Given the description of an element on the screen output the (x, y) to click on. 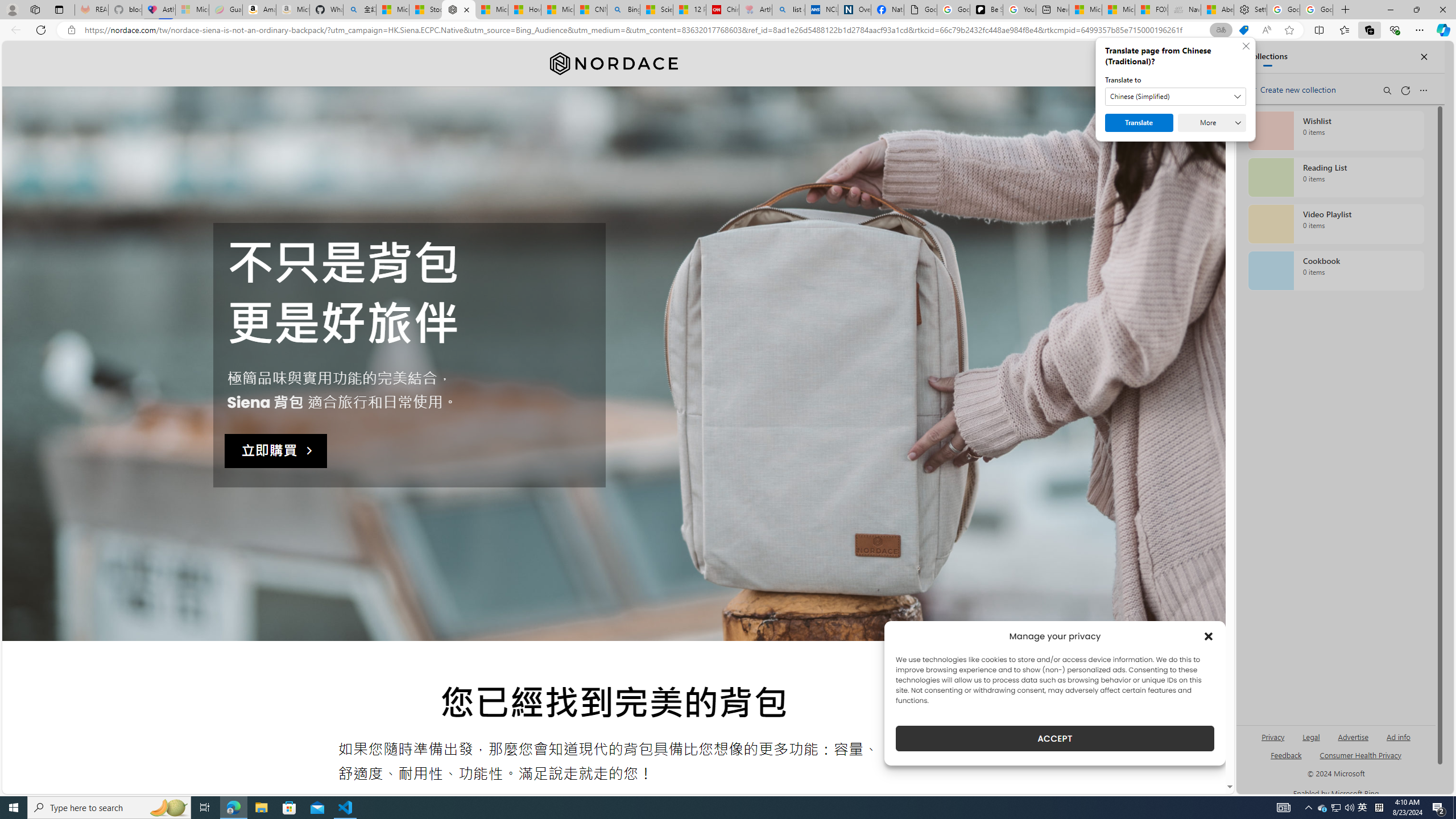
Google Analytics Opt-out Browser Add-on Download Page (920, 9)
